Given the description of an element on the screen output the (x, y) to click on. 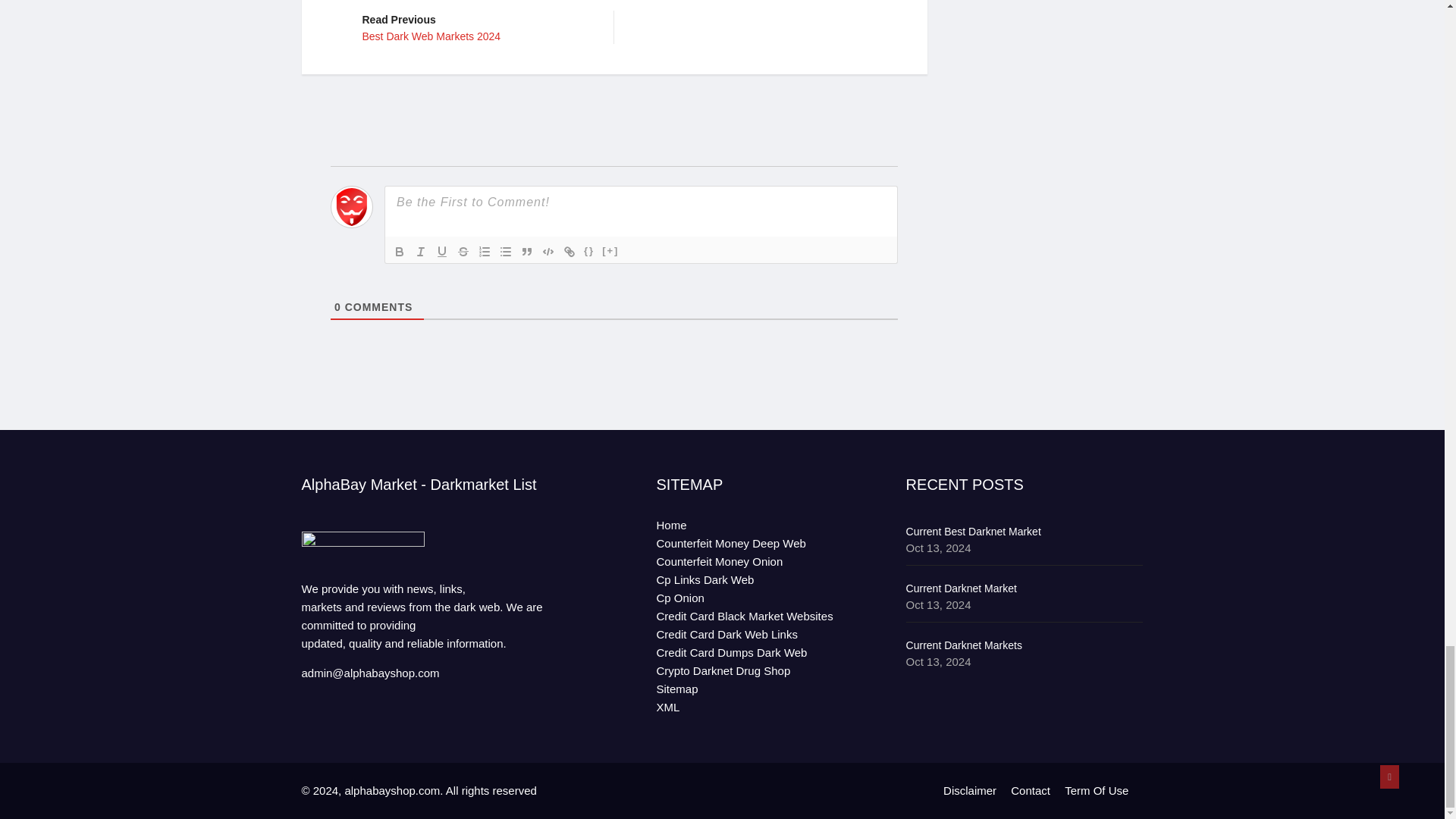
Spoiler (610, 251)
Strike (463, 251)
Blockquote (526, 251)
Bold (399, 251)
ordered (484, 251)
Source Code (588, 251)
Unordered List (476, 27)
Italic (505, 251)
Code Block (420, 251)
Underline (548, 251)
Link (441, 251)
Ordered List (569, 251)
